Given the description of an element on the screen output the (x, y) to click on. 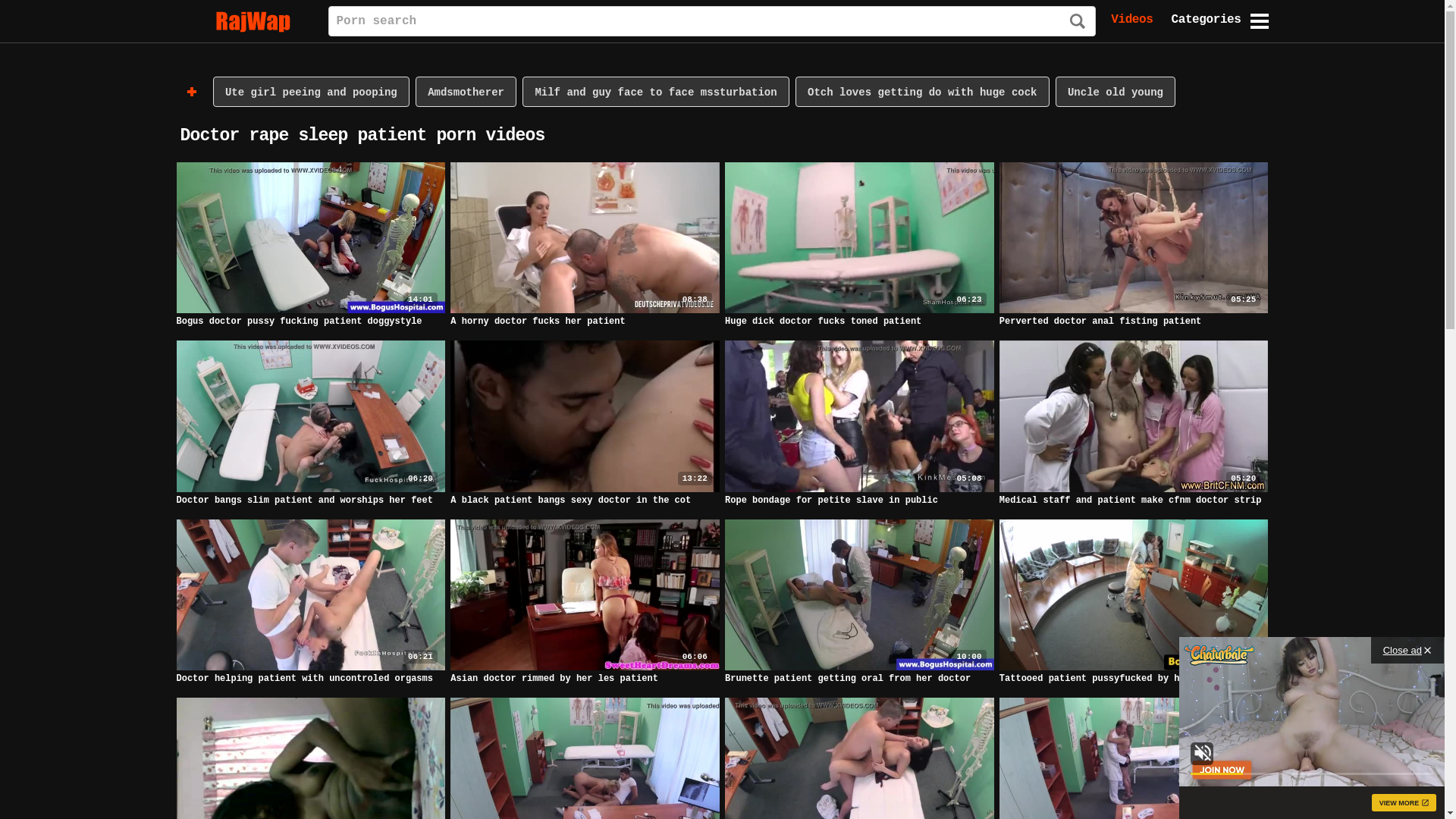
Brunette patient getting oral from her doctor Element type: text (847, 678)
Videos Element type: text (1131, 19)
06:20 Element type: text (310, 415)
Uncle old young Element type: text (1115, 91)
Milf and guy face to face mssturbation Element type: text (655, 91)
Doctor helping patient with uncontroled orgasms Element type: text (303, 678)
Doctor bangs slim patient and worships her feet Element type: text (303, 500)
A black patient bangs sexy doctor in the cot Element type: text (570, 500)
10:00 Element type: text (1133, 593)
Categories Element type: text (1205, 19)
Perverted doctor anal fisting patient Element type: text (1100, 321)
Rope bondage for petite slave in public Element type: text (831, 500)
Medical staff and patient make cfnm doctor strip Element type: text (1130, 500)
Tattooed patient pussyfucked by her doctor Element type: text (1113, 678)
06:06 Element type: text (584, 593)
08:38 Element type: text (584, 237)
05:08 Element type: text (859, 415)
Amdsmotherer Element type: text (465, 91)
Huge dick doctor fucks toned patient Element type: text (822, 321)
Bogus doctor pussy fucking patient doggystyle Element type: text (298, 321)
06:21 Element type: text (310, 593)
14:01 Element type: text (310, 237)
10:00 Element type: text (859, 593)
05:20 Element type: text (1133, 415)
A horny doctor fucks her patient Element type: text (537, 321)
Otch loves getting do with huge cock Element type: text (921, 91)
Asian doctor rimmed by her les patient Element type: text (554, 678)
Ute girl peeing and pooping Element type: text (311, 91)
06:23 Element type: text (859, 237)
13:22 Element type: text (584, 415)
05:25 Element type: text (1133, 237)
RajWap Element type: text (243, 21)
